Given the description of an element on the screen output the (x, y) to click on. 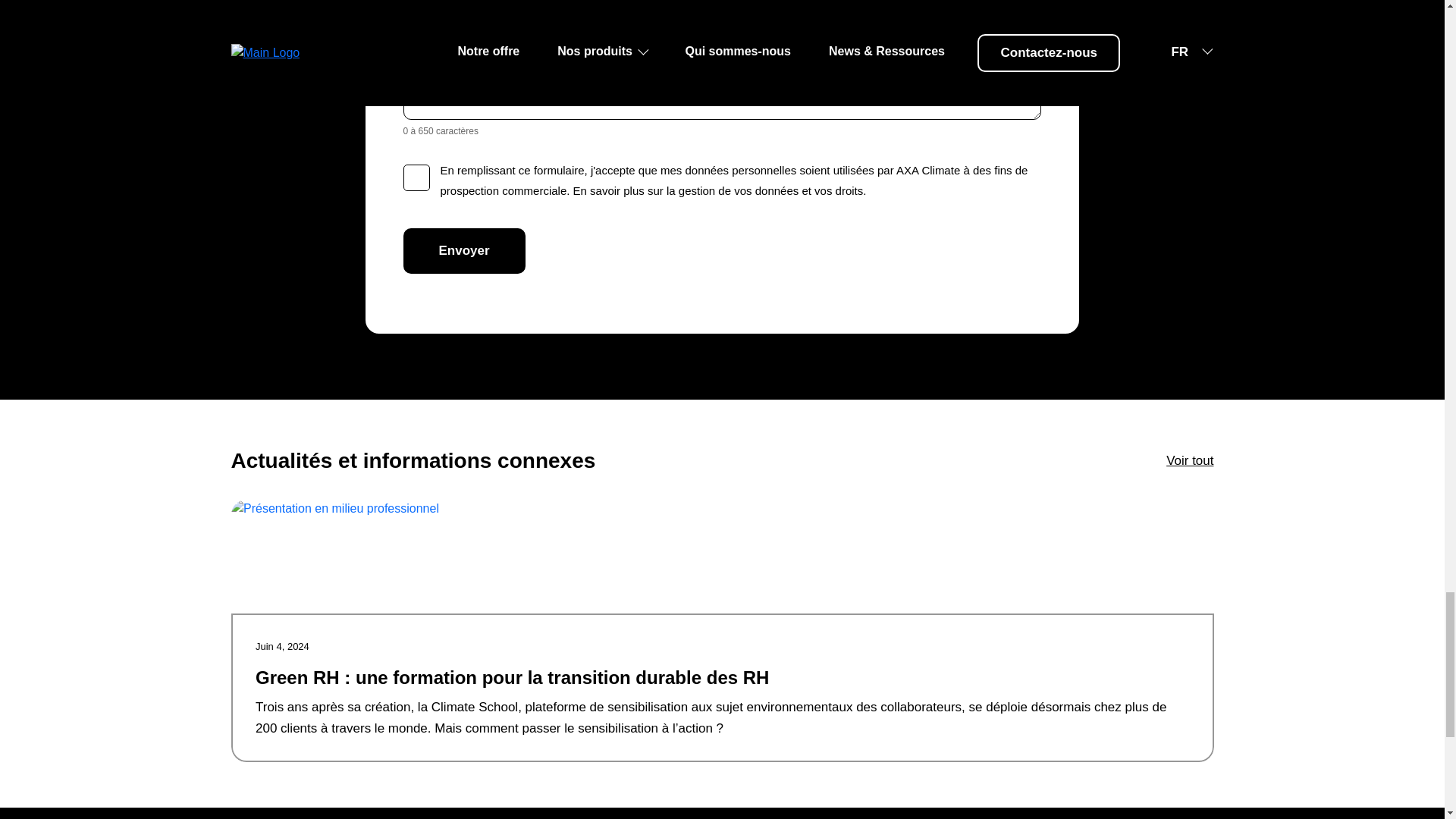
Voir tout (1189, 460)
Envoyer (464, 250)
